Given the description of an element on the screen output the (x, y) to click on. 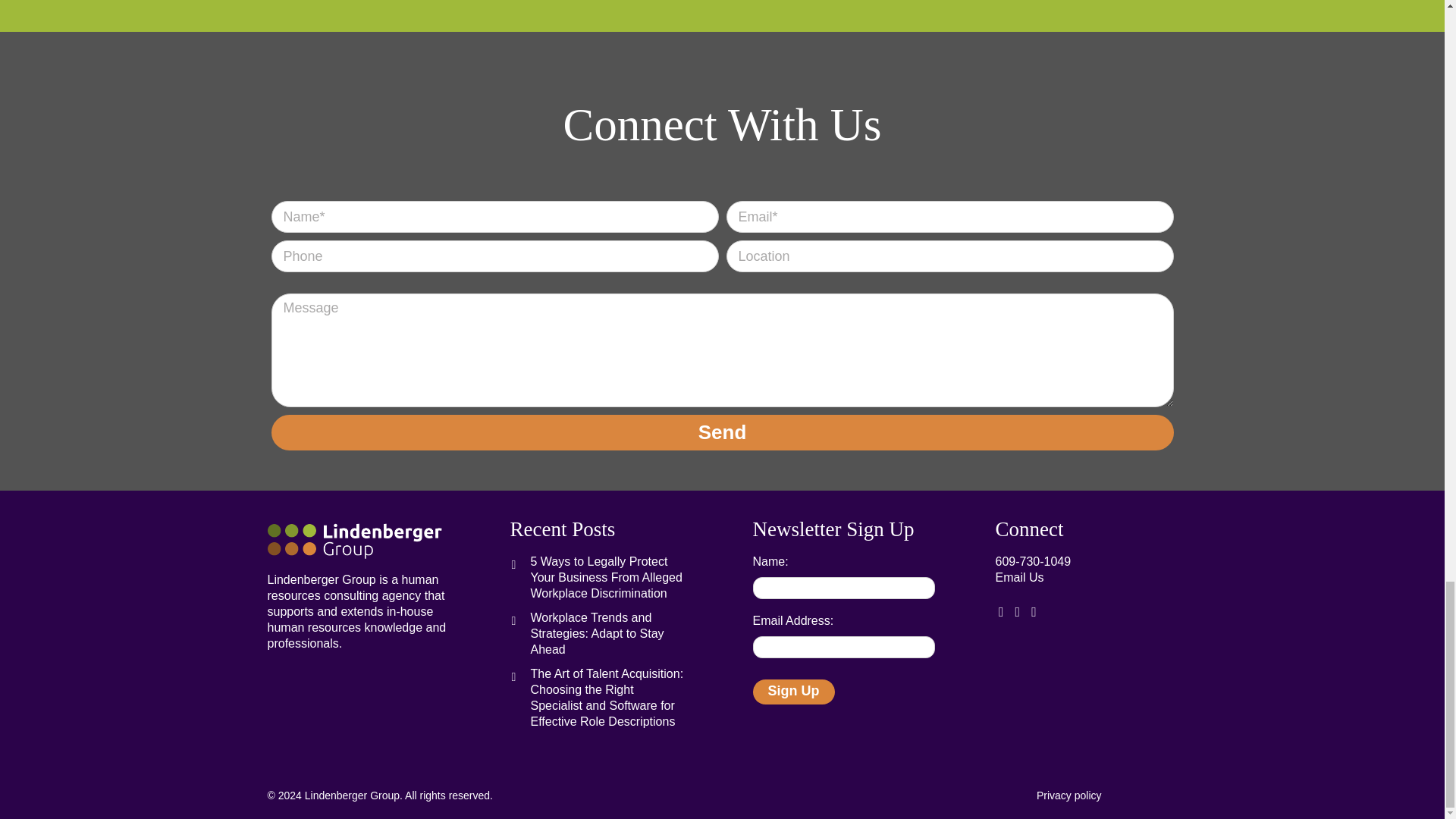
Send (721, 432)
Send (721, 432)
Sign Up (793, 691)
Workplace Trends and Strategies: Adapt to Stay Ahead (607, 633)
